Given the description of an element on the screen output the (x, y) to click on. 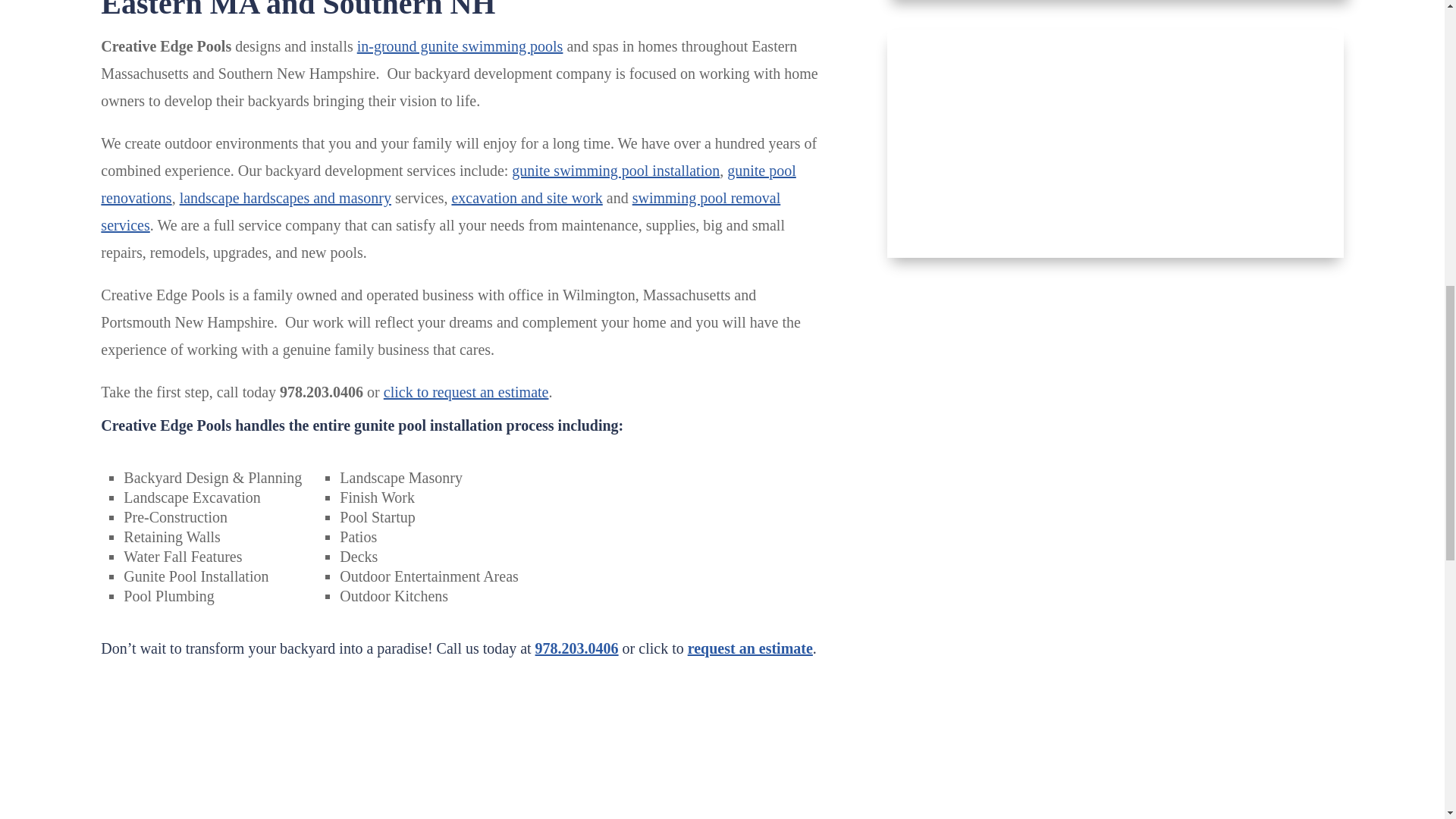
Swimming Pool Demolition and Removal (1114, 254)
swimming pool removal services (440, 211)
gunite swimming pool installation (615, 170)
978.203.0406 (576, 647)
in-ground gunite swimming pools (459, 45)
excavation and site work (526, 197)
landscape hardscapes and masonry (285, 197)
click to request an estimate (466, 392)
request an estimate (749, 647)
gunite pool renovations (447, 184)
